Given the description of an element on the screen output the (x, y) to click on. 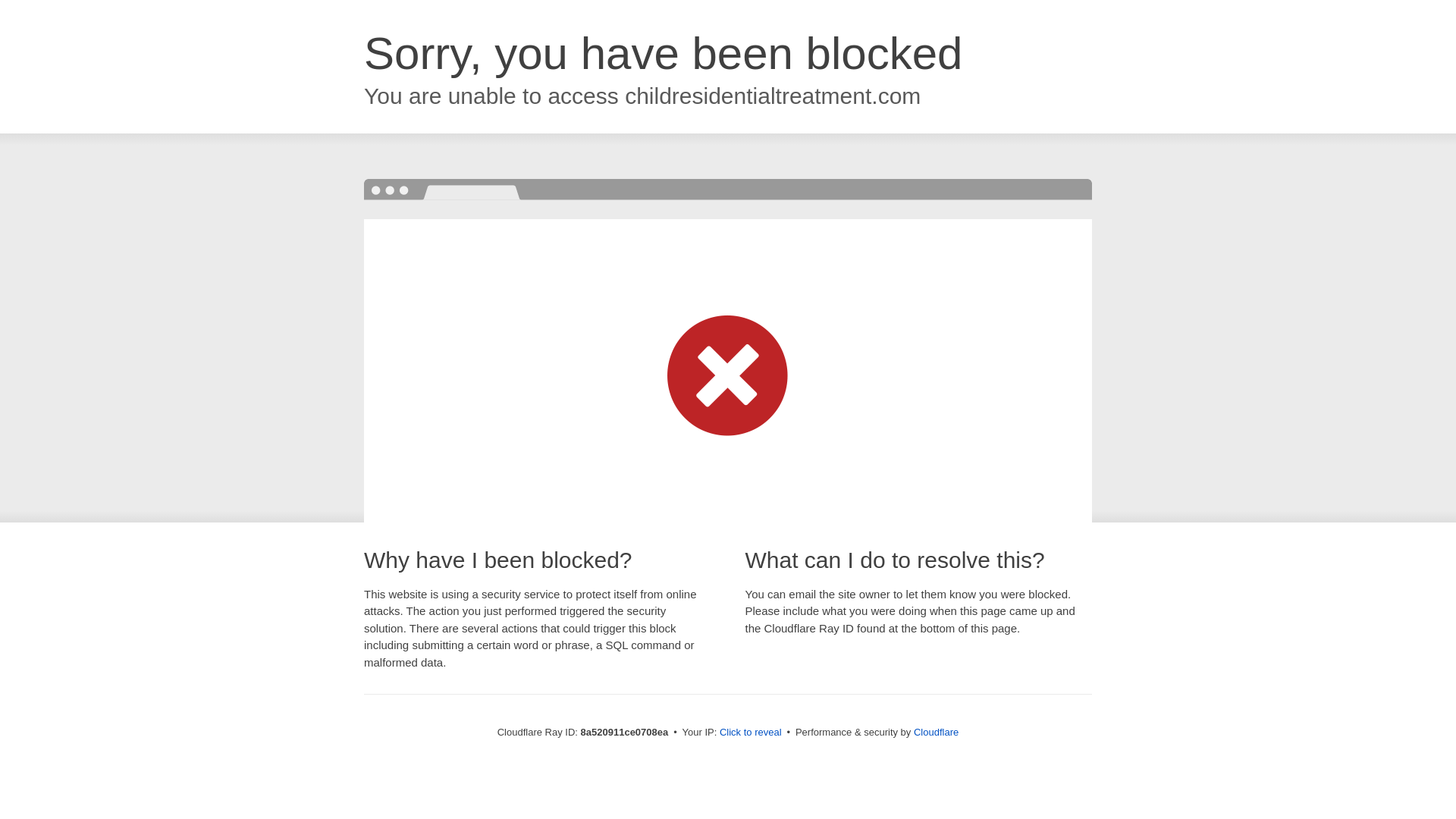
Click to reveal (750, 732)
Cloudflare (936, 731)
